Given the description of an element on the screen output the (x, y) to click on. 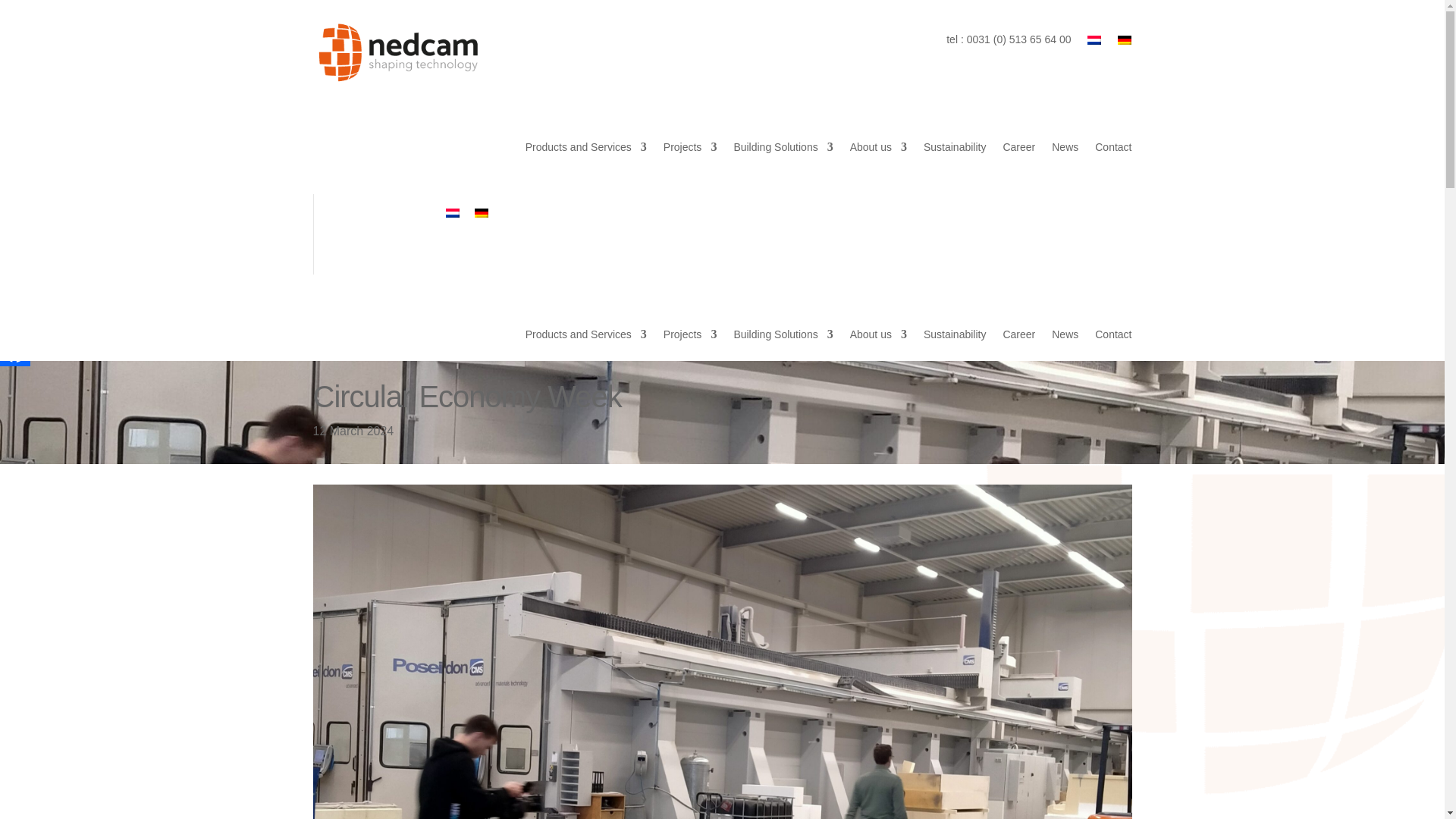
Products and Services (585, 147)
xing (15, 284)
logo (398, 53)
Sustainability (955, 147)
Projects (690, 147)
Linkedin (15, 250)
Career (1019, 147)
Contact (1112, 147)
Building Solutions (782, 147)
